Given the description of an element on the screen output the (x, y) to click on. 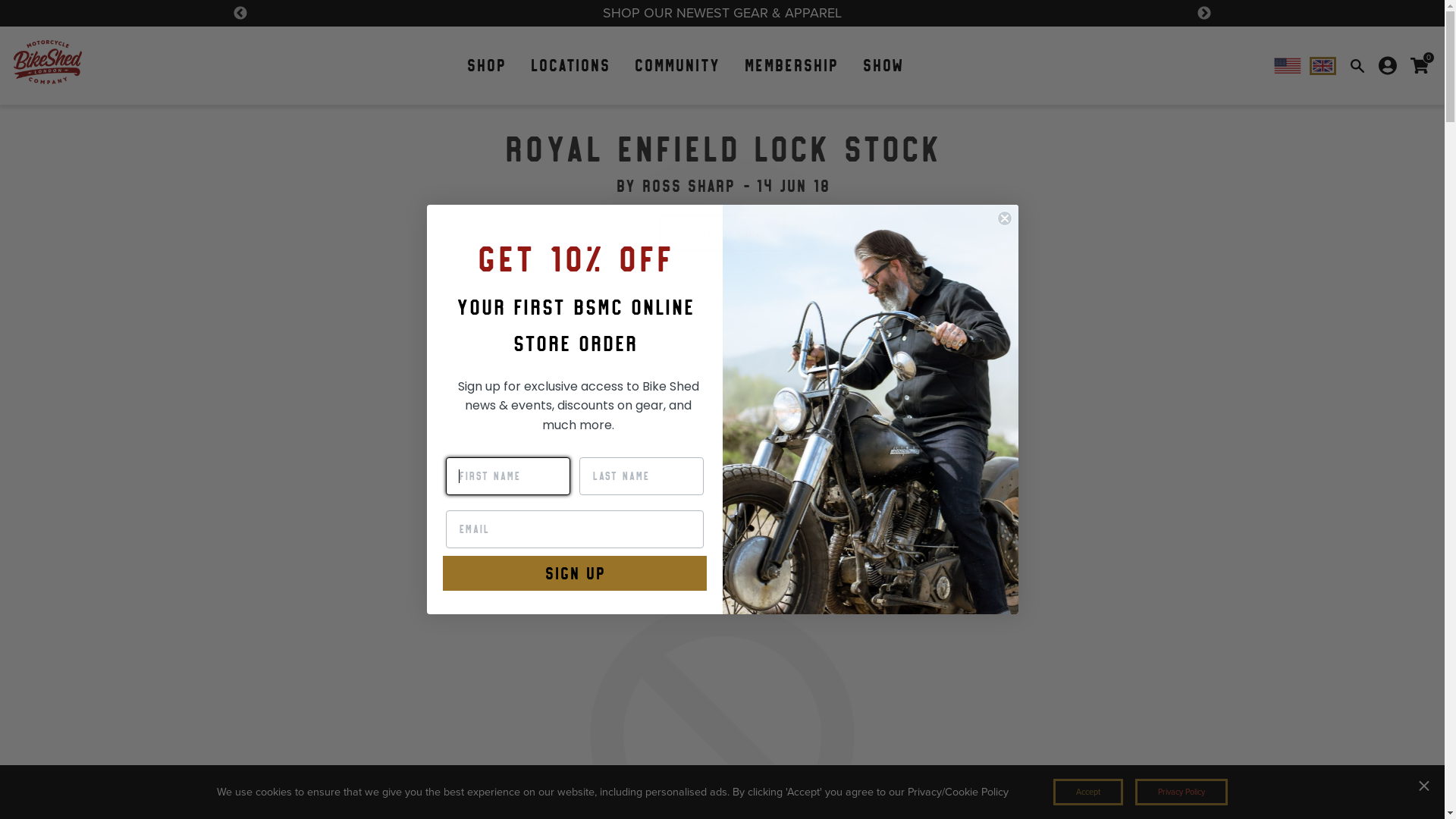
Previous Element type: text (239, 13)
Bike Shed Moto Co Element type: hover (869, 409)
Access Account Element type: hover (1387, 65)
Community Element type: text (676, 64)
Category_Bikes Element type: text (722, 232)
SHOW Element type: text (882, 64)
Locations Element type: text (569, 64)
Close dialog 1 Element type: text (1003, 217)
Privacy Policy Element type: text (1180, 791)
Submit Element type: text (24, 9)
Membership Element type: text (790, 64)
SIGN UP Element type: text (574, 572)
Skip to content Element type: text (0, 112)
Next Element type: text (1203, 13)
Privacy Policy Element type: text (1181, 791)
Search Website Element type: hover (1357, 65)
Accept Element type: text (1088, 791)
Shop Element type: text (485, 64)
